Given the description of an element on the screen output the (x, y) to click on. 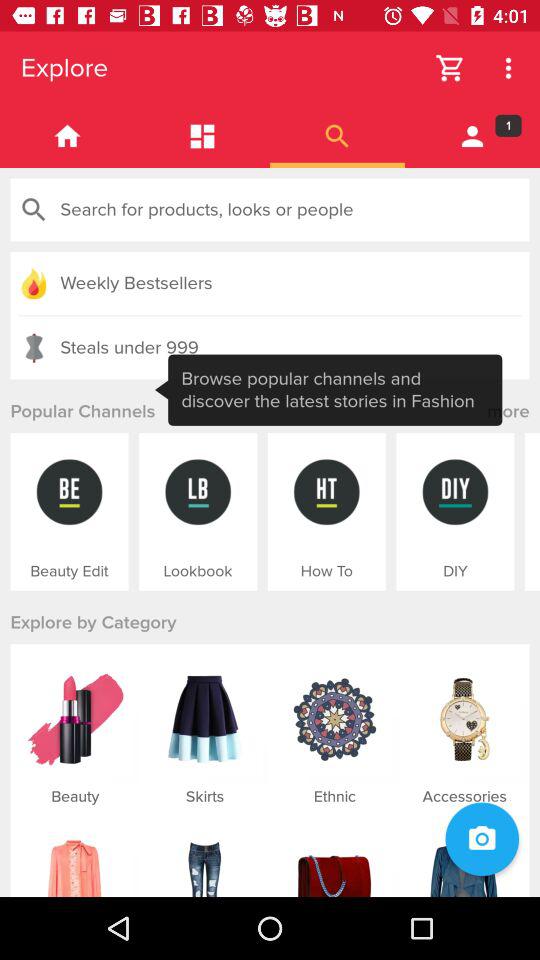
go home (67, 136)
